Given the description of an element on the screen output the (x, y) to click on. 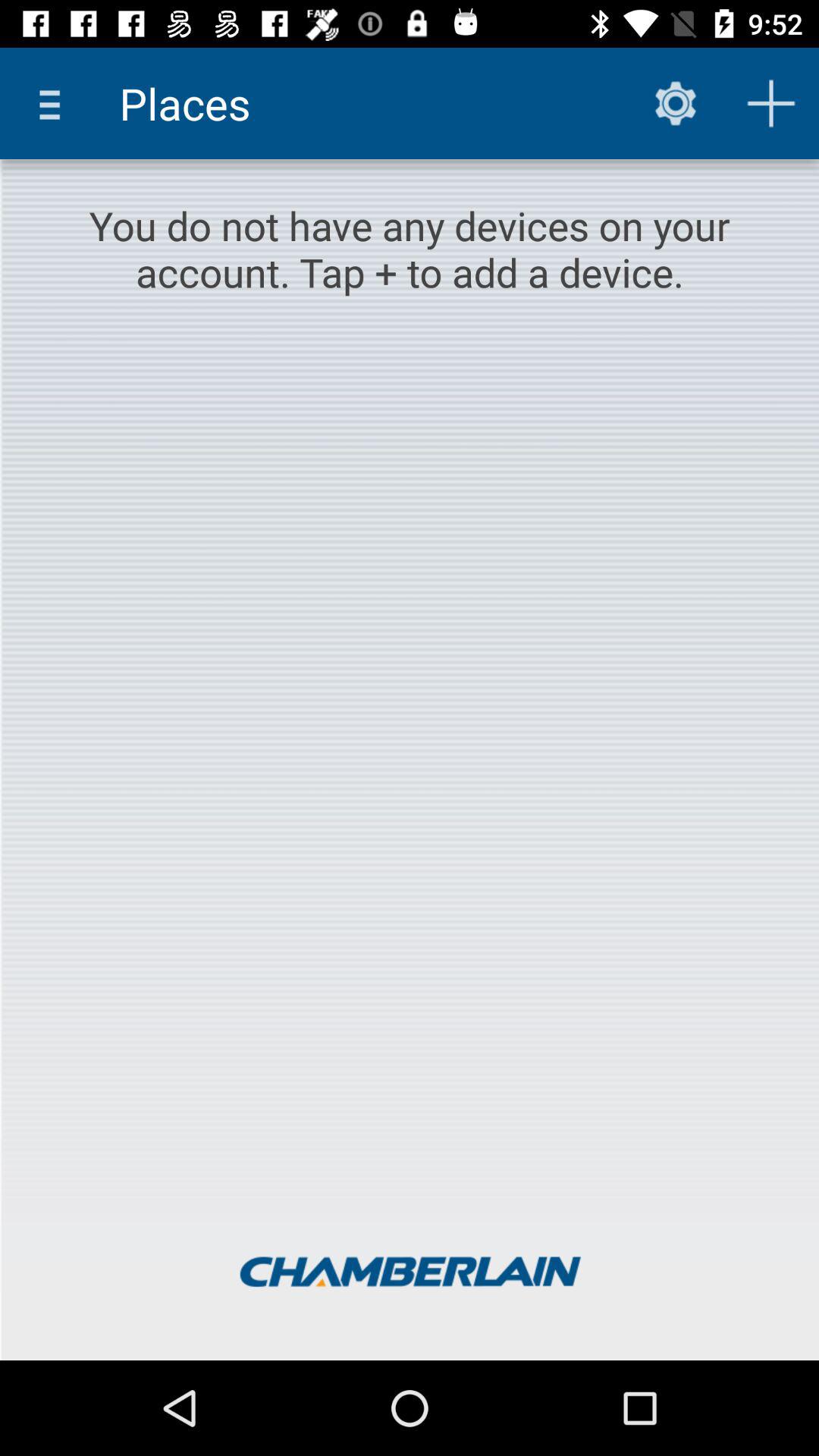
select app to the left of places app (55, 103)
